Given the description of an element on the screen output the (x, y) to click on. 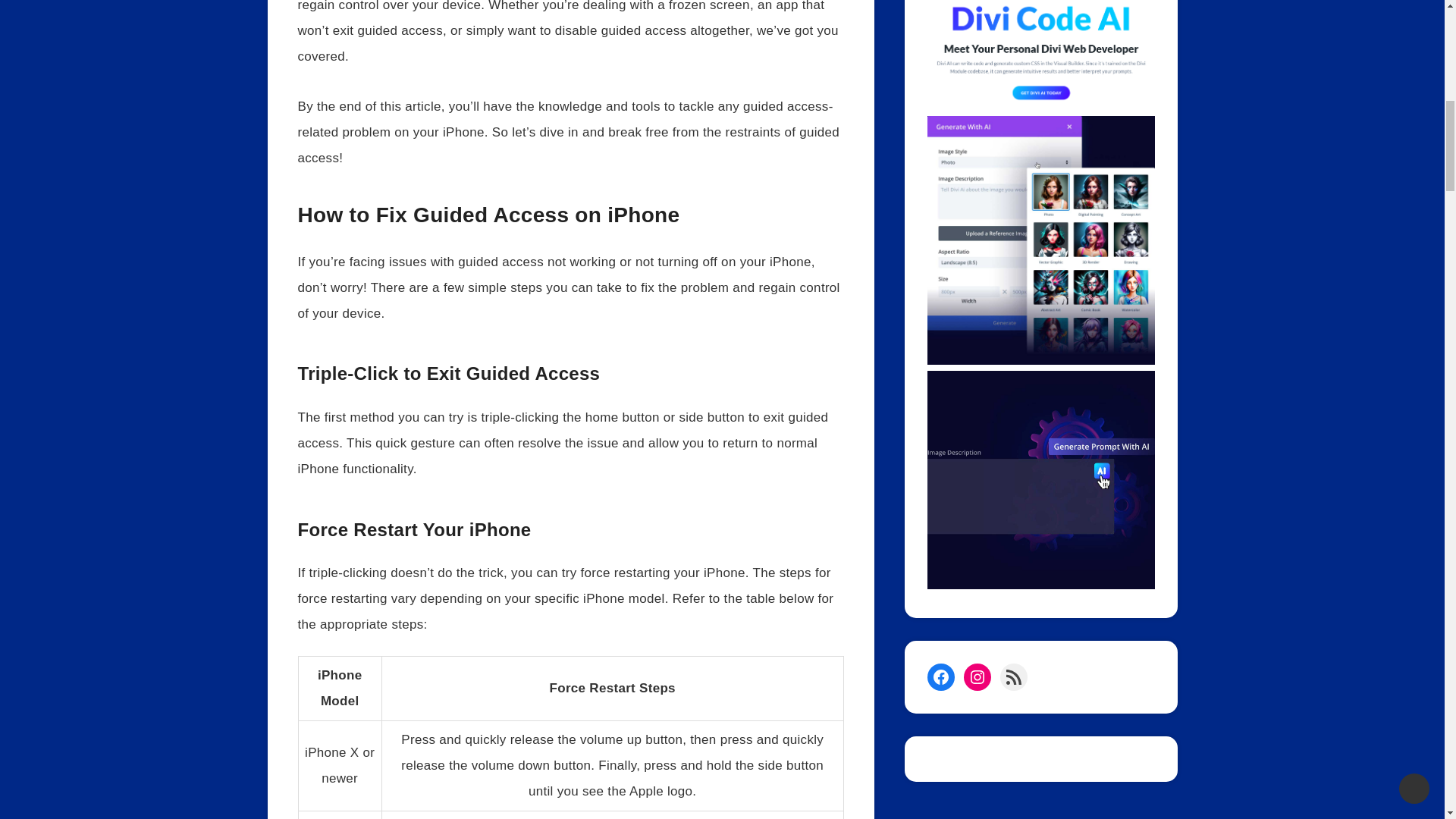
Facebook (939, 677)
Instagram (976, 677)
RSS Feed (1012, 677)
